Given the description of an element on the screen output the (x, y) to click on. 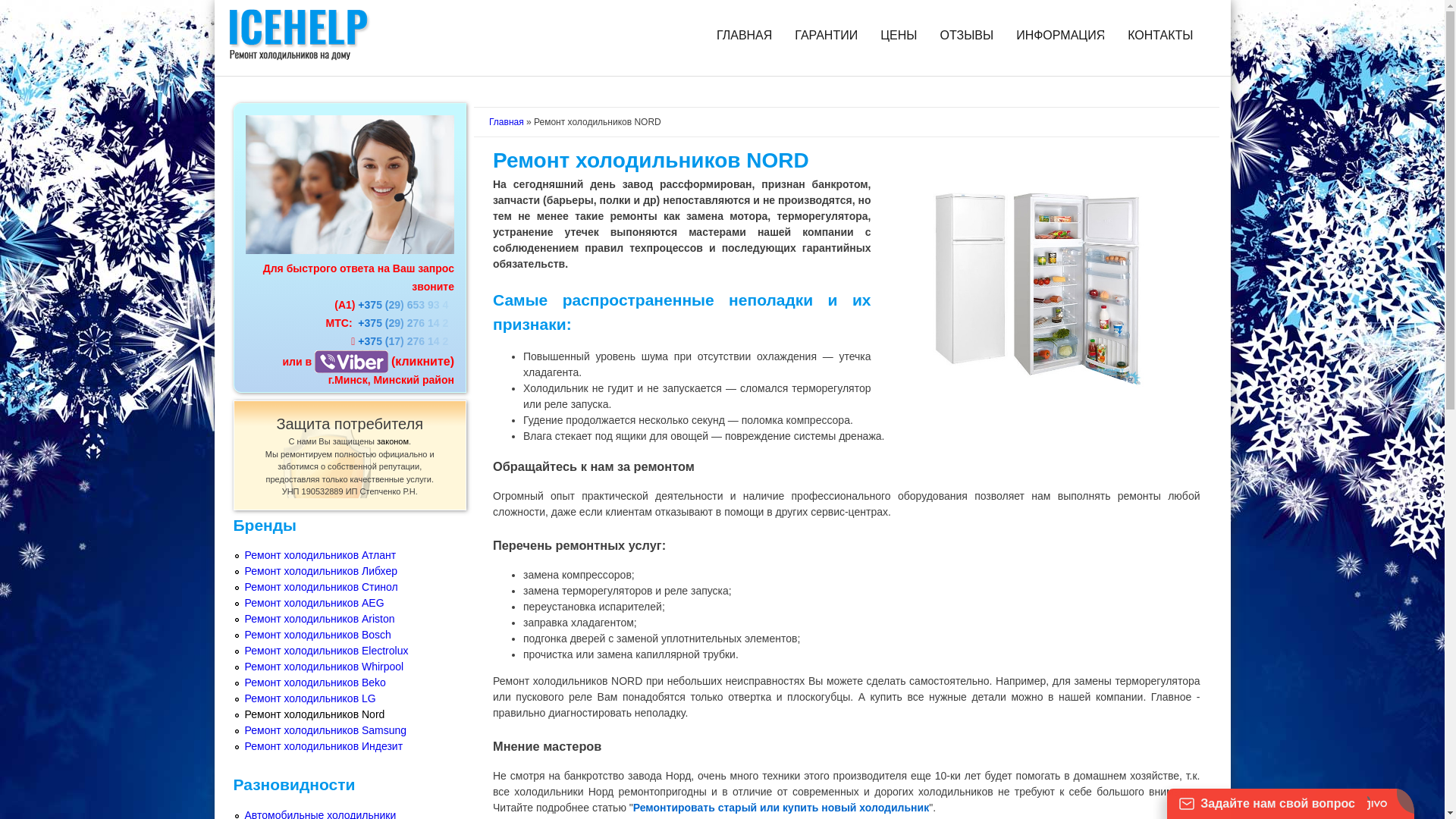
+375 (29) 653 93 4 Element type: text (404, 304)
+375 (17) 276 14 2 Element type: text (405, 341)
+375 (29) 276 14 2 Element type: text (405, 322)
